Given the description of an element on the screen output the (x, y) to click on. 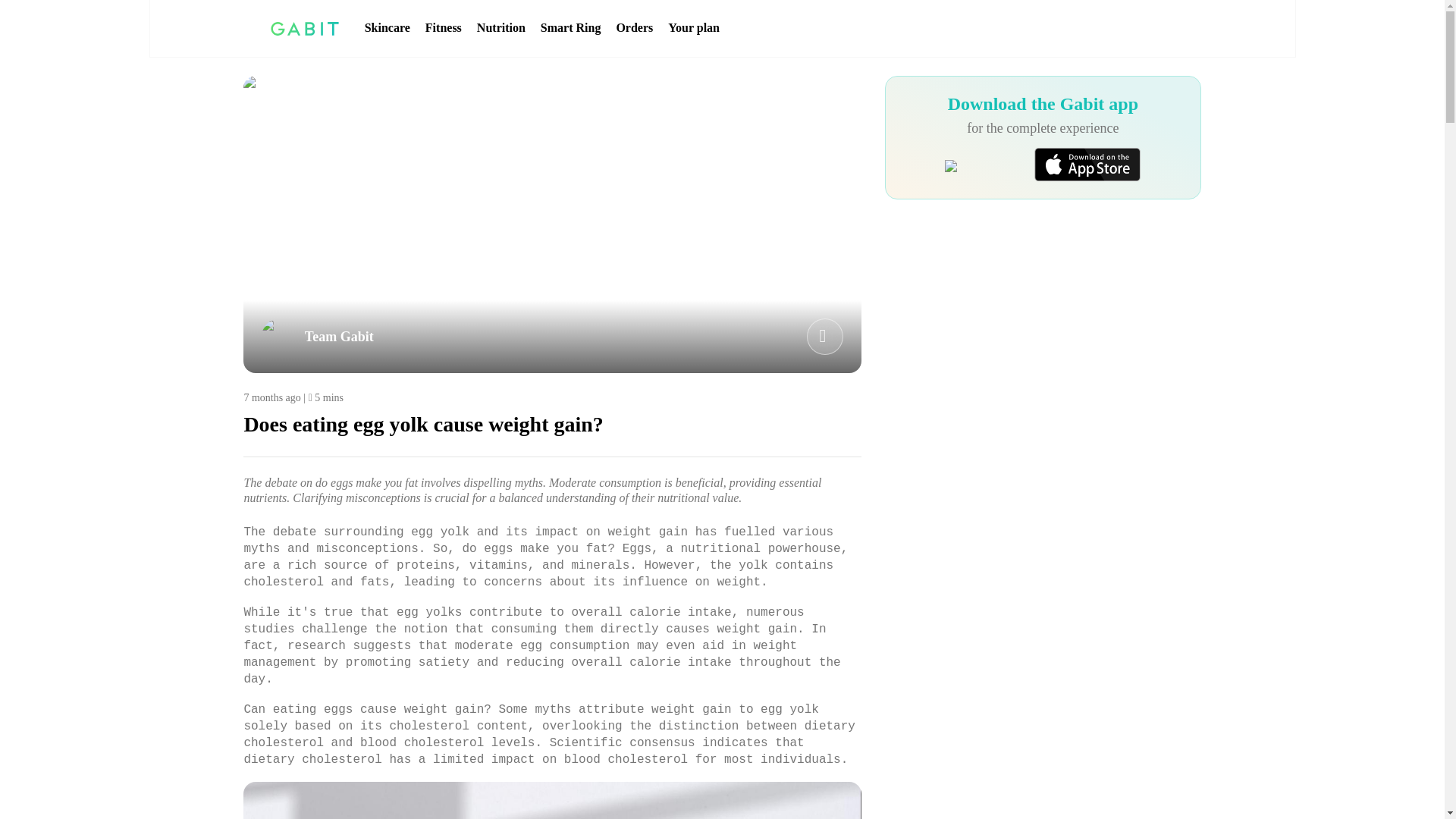
Orders (633, 27)
Smart Ring (570, 27)
Fitness (443, 27)
Your plan (693, 27)
Skincare (387, 27)
Nutrition (501, 27)
